Given the description of an element on the screen output the (x, y) to click on. 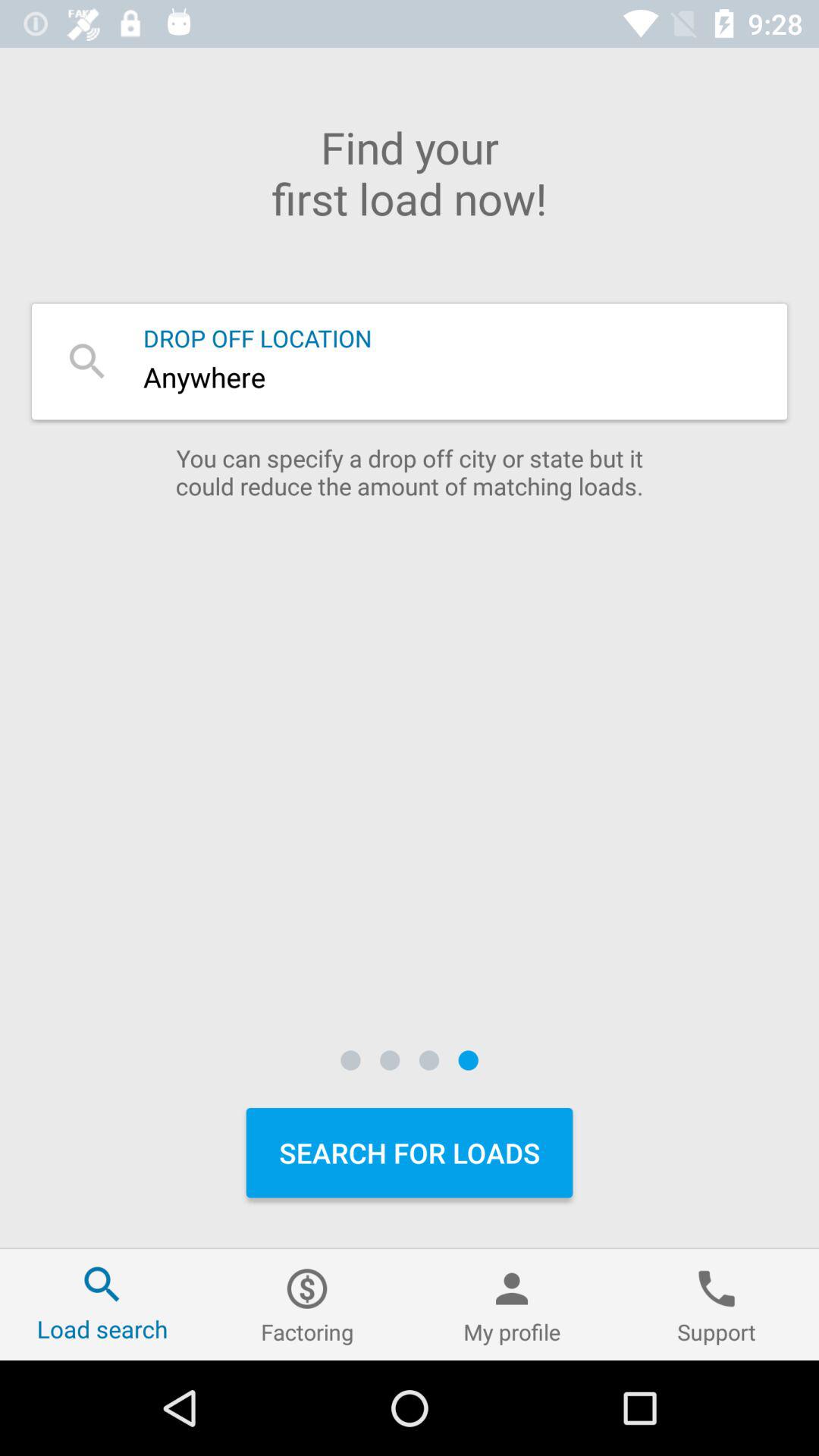
choose the icon next to factoring icon (102, 1304)
